Given the description of an element on the screen output the (x, y) to click on. 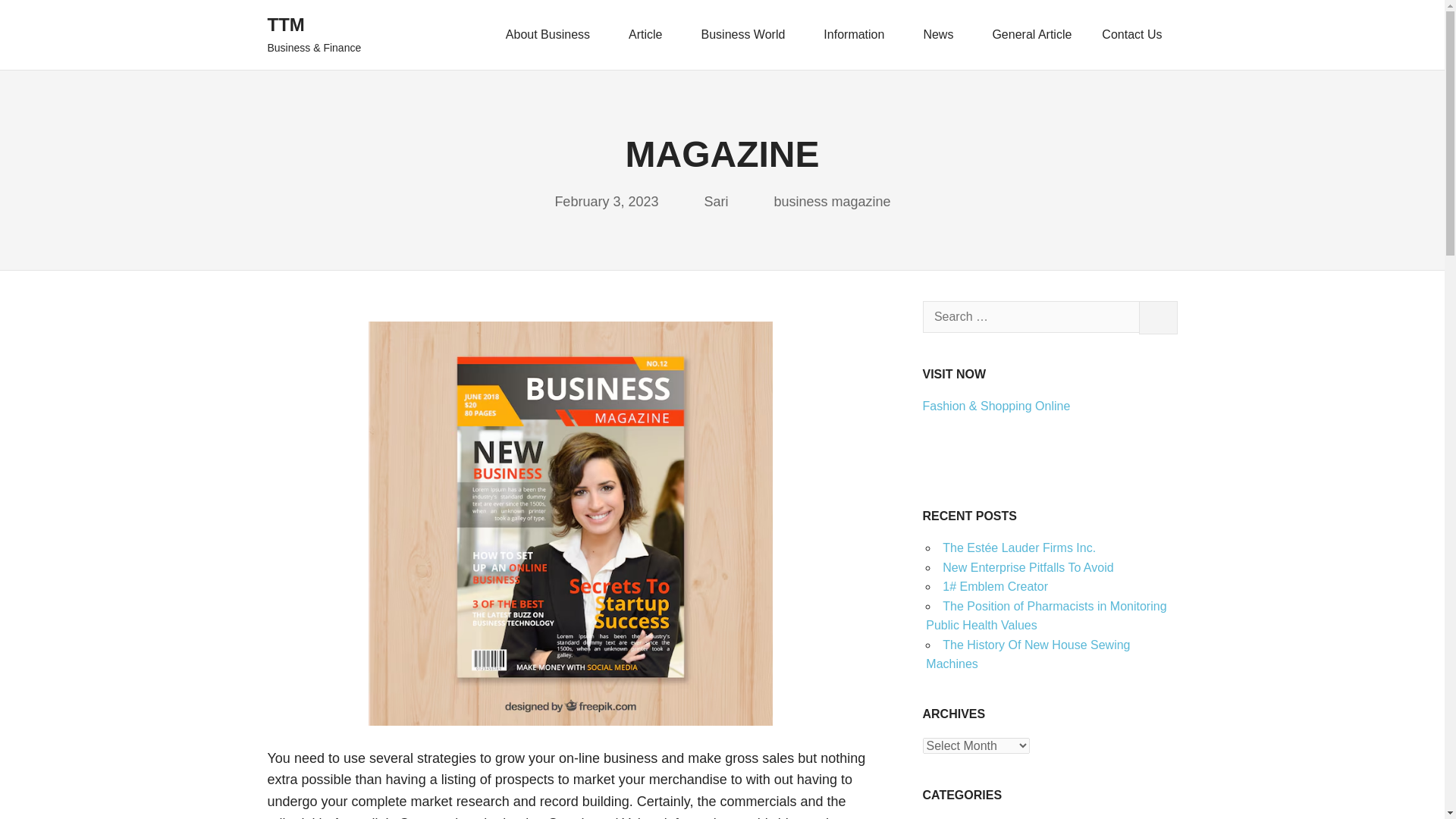
business magazine (832, 201)
6:05 am (606, 201)
TTM (285, 24)
Contact Us (1131, 34)
News (941, 34)
Sari (715, 201)
General Article (1031, 34)
Search for: (1029, 316)
February 3, 2023 (606, 201)
